Given the description of an element on the screen output the (x, y) to click on. 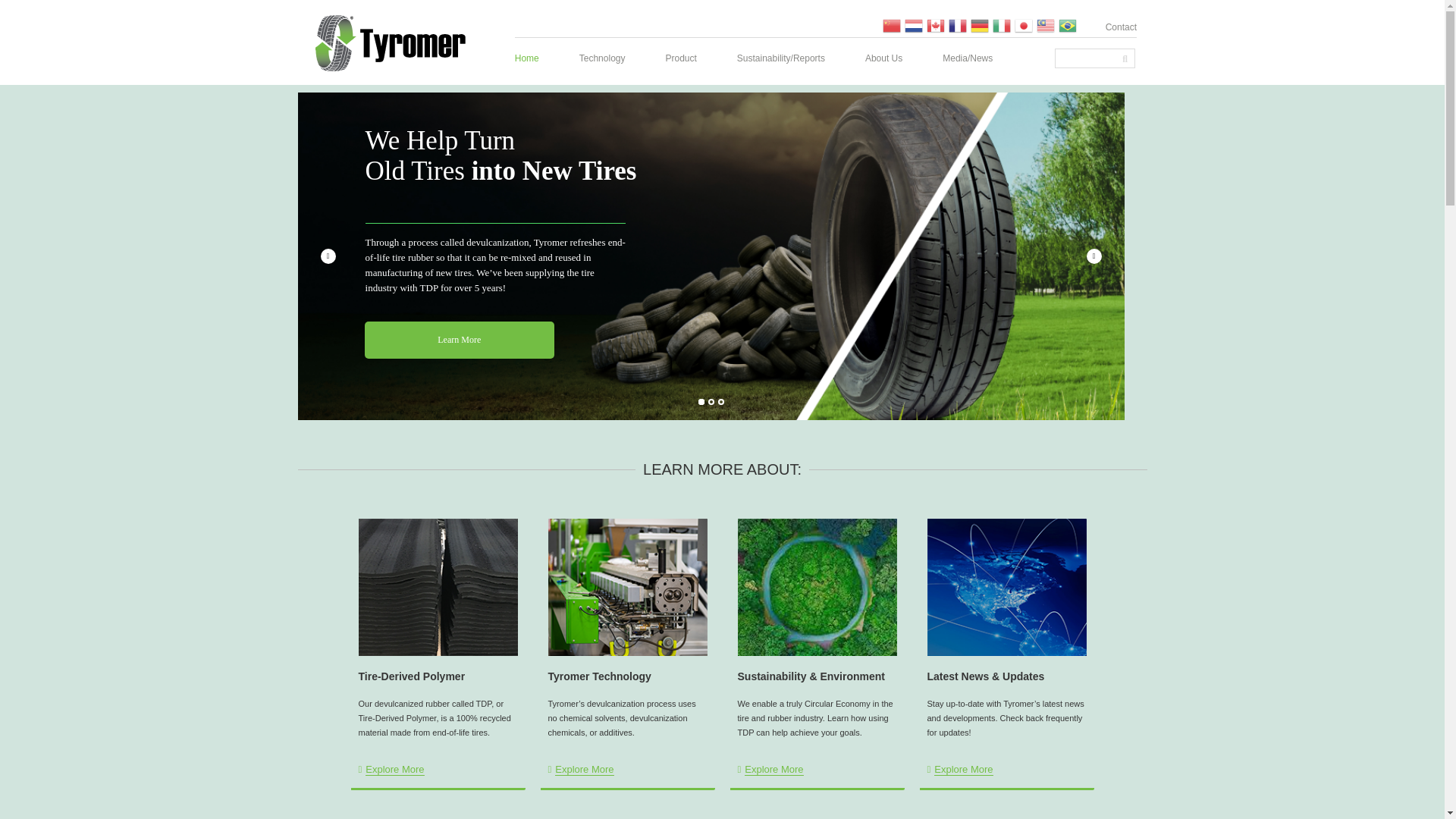
Explore More (390, 768)
German (979, 24)
Dutch (913, 24)
Japanese (1023, 24)
Technology (602, 57)
Italian (1001, 24)
Contact (1113, 26)
Portuguese (1067, 24)
Home (534, 57)
Search (1085, 57)
About Us (883, 57)
Product (680, 57)
English (935, 24)
Malay (1045, 24)
French (957, 24)
